Given the description of an element on the screen output the (x, y) to click on. 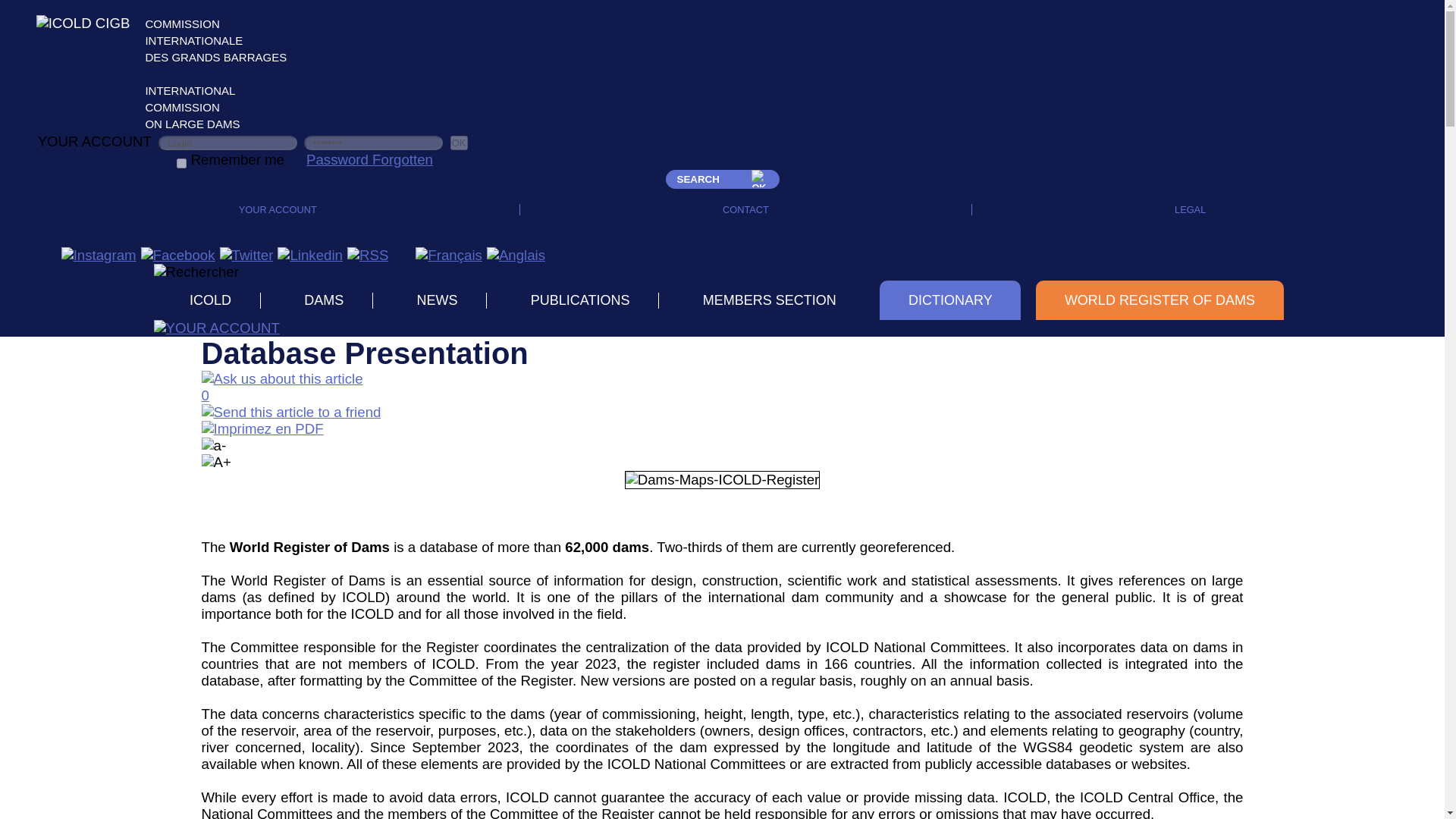
Print in PDF (262, 428)
ICOLD on RSS (367, 254)
Password (373, 142)
DAMS (324, 300)
YOUR ACCOUNT (277, 209)
Login (227, 142)
Home (515, 254)
NEWS (437, 300)
Password Forgotten (368, 159)
CONTACT (745, 209)
Change Text Size (214, 445)
Ask us about this article (282, 379)
Change Text Size (216, 462)
ICOLD (210, 300)
